Given the description of an element on the screen output the (x, y) to click on. 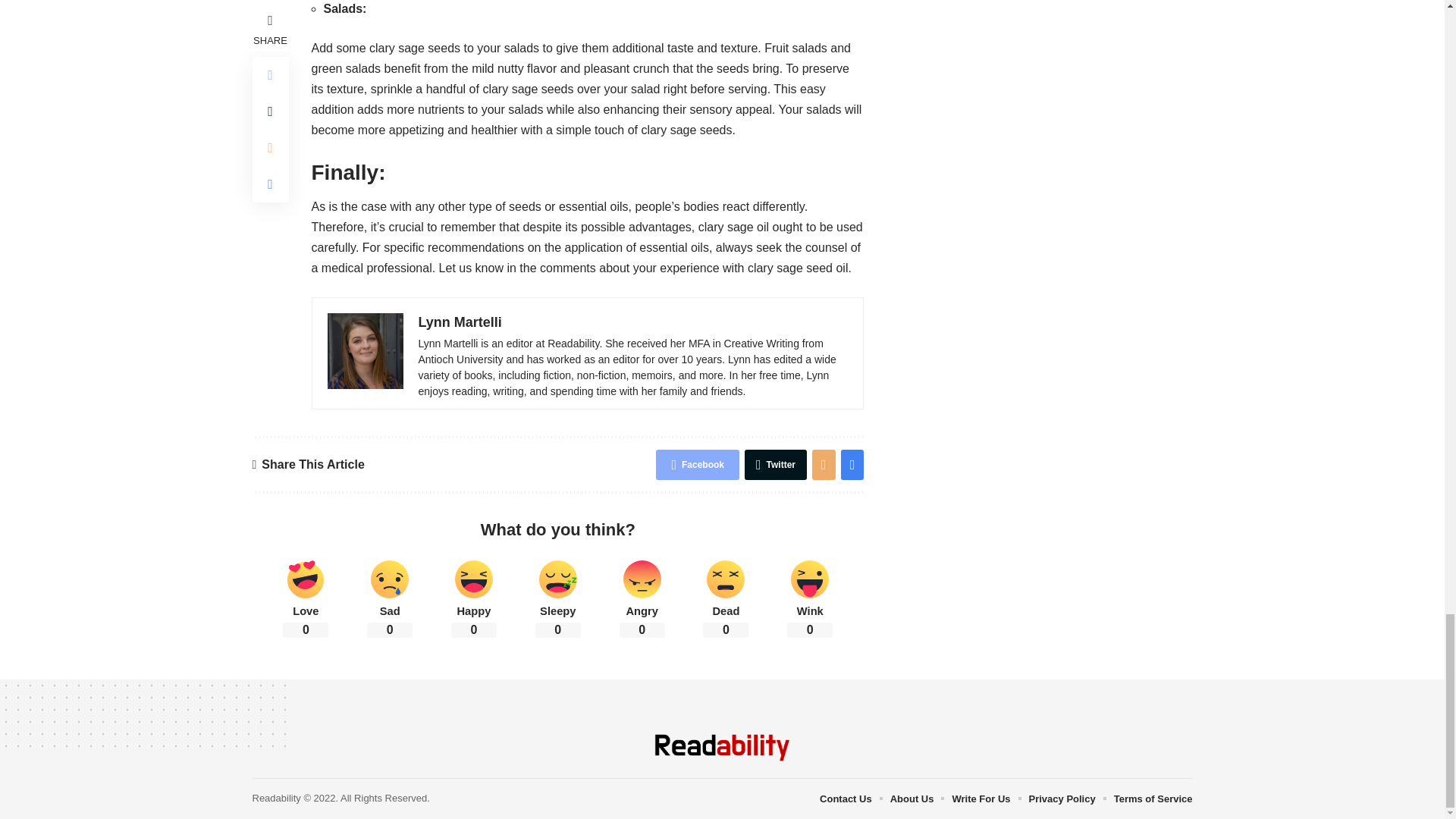
Readability (722, 747)
